Given the description of an element on the screen output the (x, y) to click on. 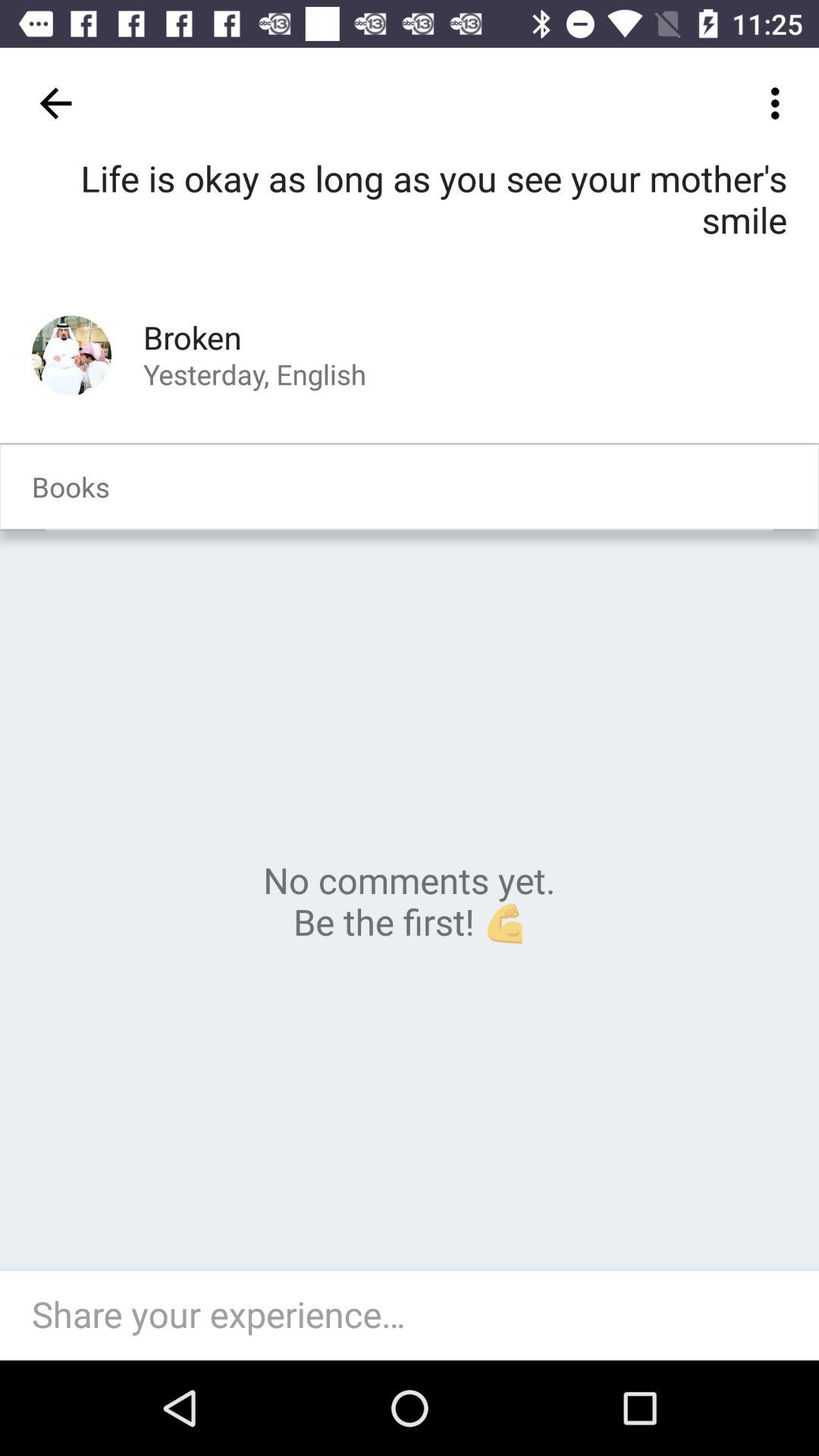
choose item at the top right corner (779, 103)
